Given the description of an element on the screen output the (x, y) to click on. 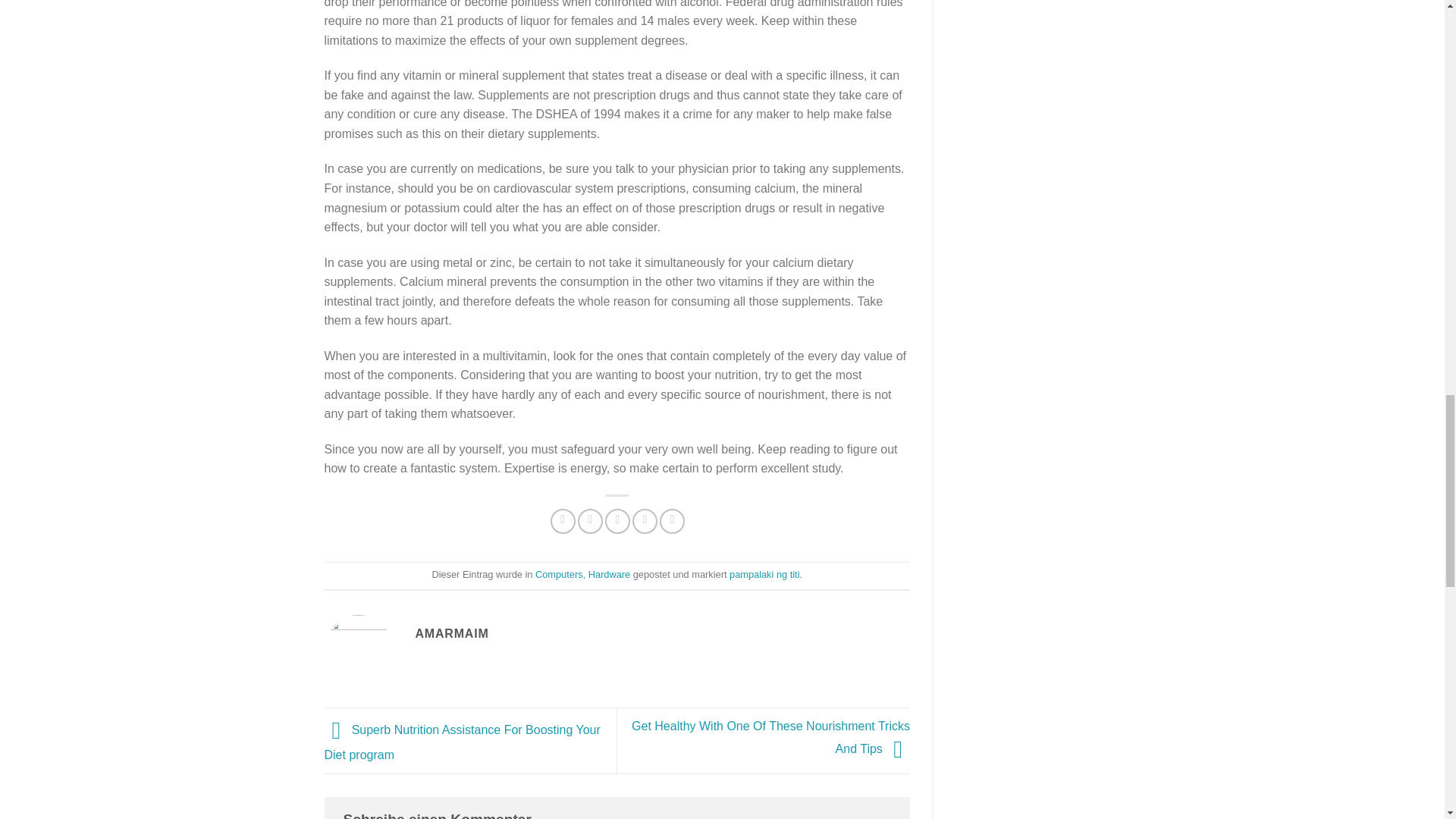
Auf Facebook teilen (562, 520)
Pinterest Pin erstellen (644, 520)
E-mail an einen Freund senden (617, 520)
Auf Twitter teilen (590, 520)
